Given the description of an element on the screen output the (x, y) to click on. 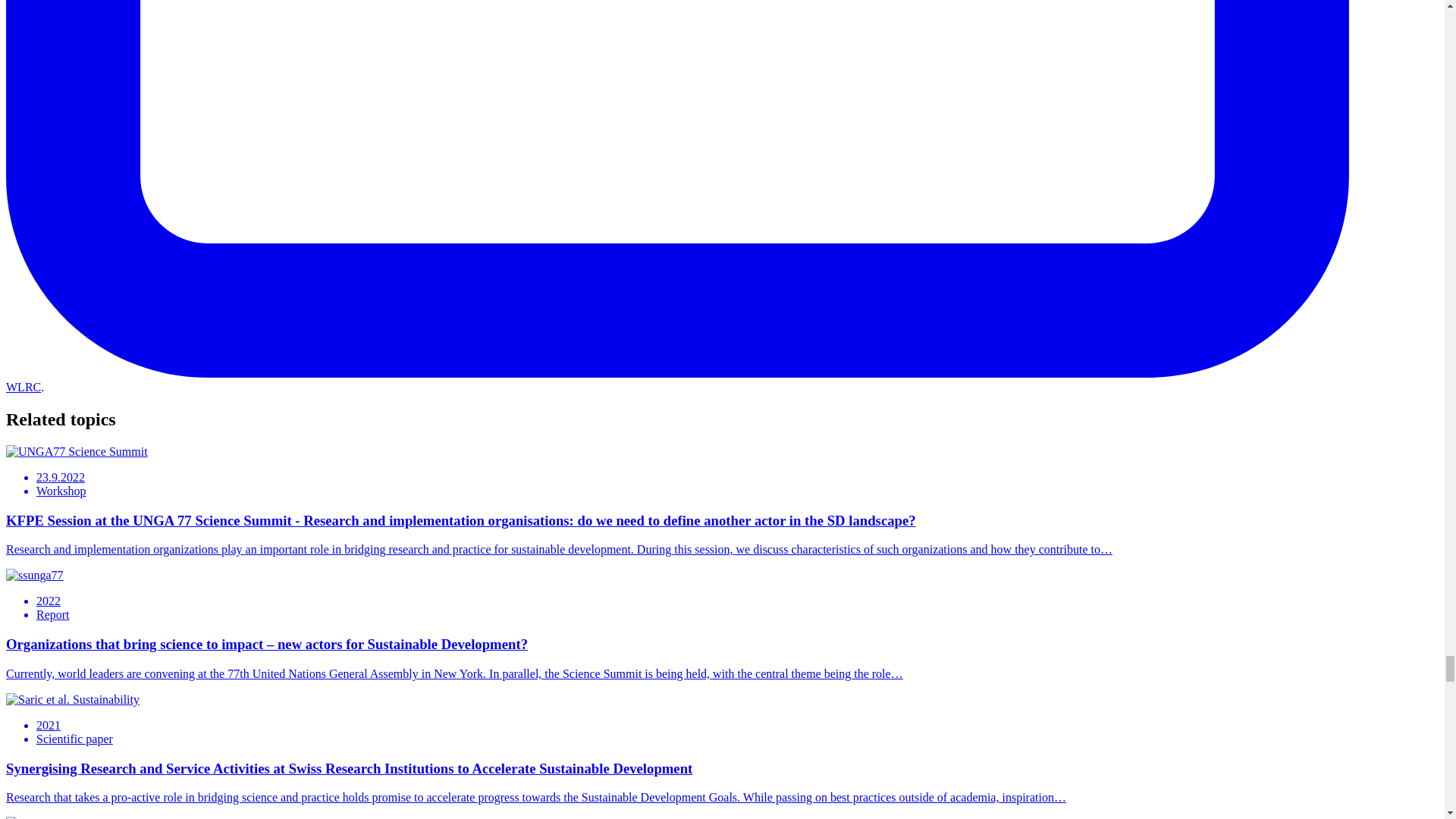
ssunga77 (34, 575)
UNGA77 Science Summit (76, 451)
